Given the description of an element on the screen output the (x, y) to click on. 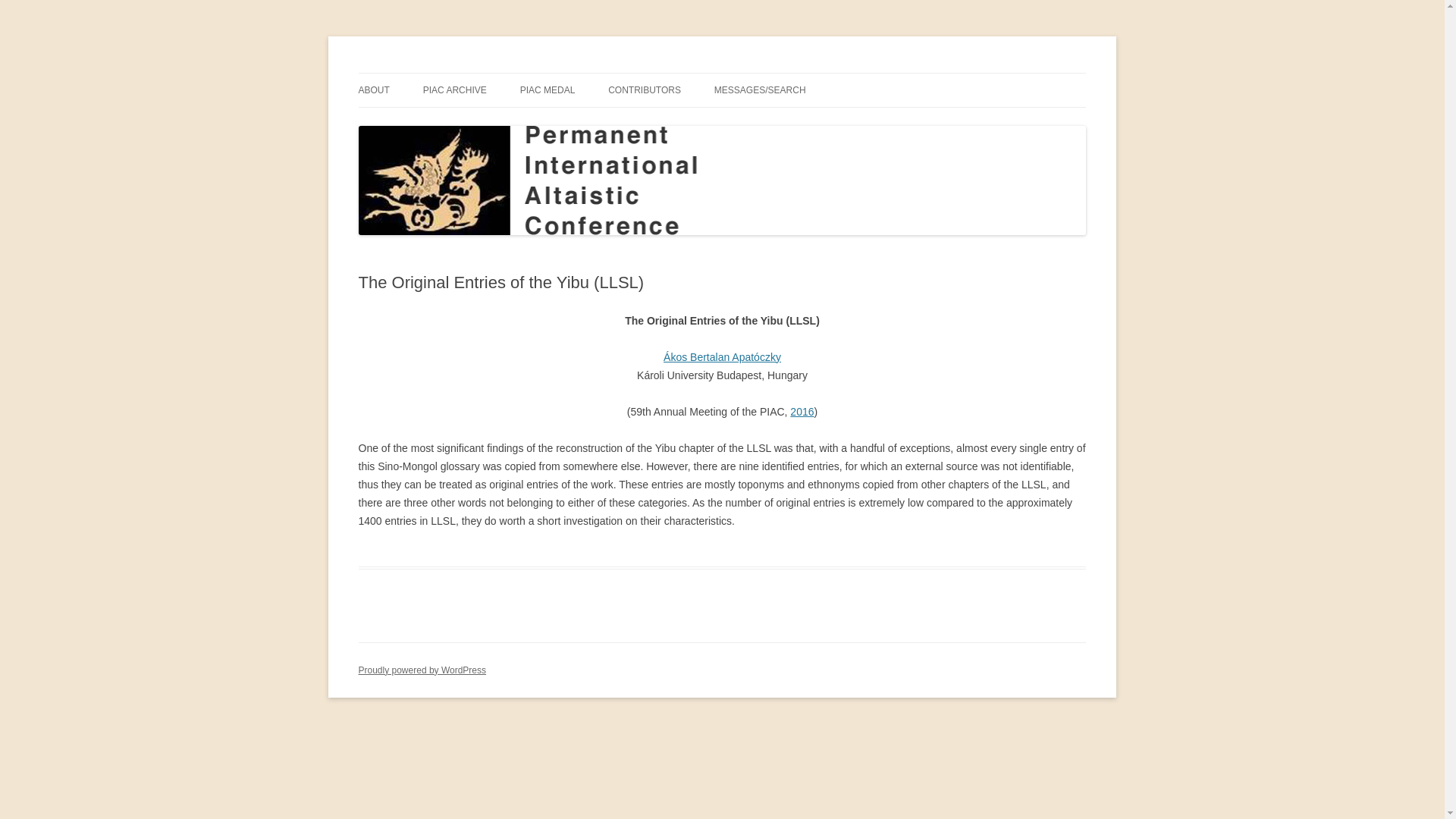
CONTRIBUTORS (644, 90)
Permanent International Altaistic Conference (568, 72)
PIAC MEDAL (547, 90)
2016 (801, 411)
Permanent International Altaistic Conference (568, 72)
ABOUT (373, 90)
PIAC ARCHIVE (454, 90)
PIAC (433, 122)
ANNUAL MEETINGS BY YEAR (499, 122)
